Given the description of an element on the screen output the (x, y) to click on. 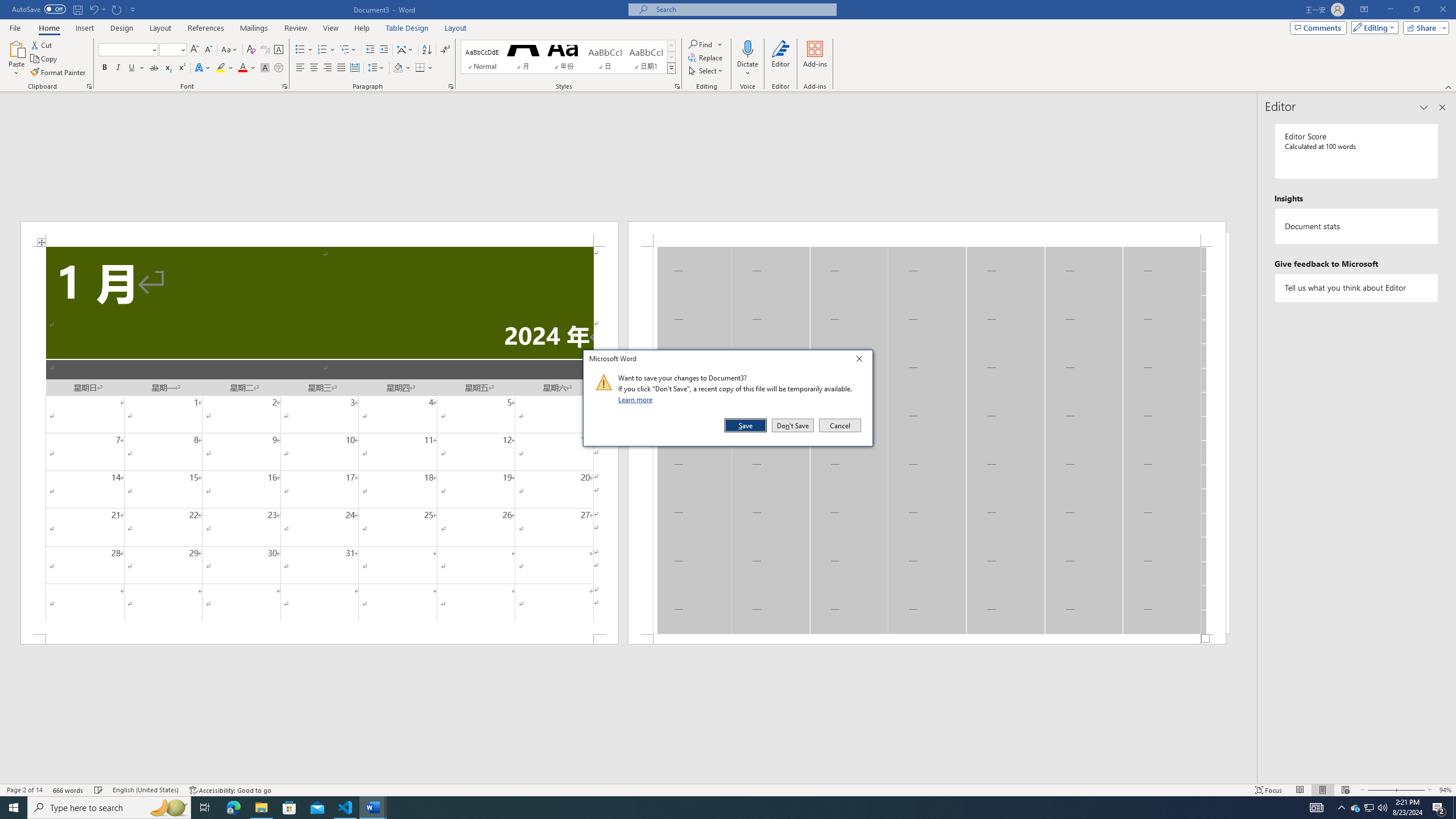
Align Right (327, 67)
Multilevel List (347, 49)
Repeat Doc Close (117, 9)
Class: NetUIScrollBar (628, 778)
Underline (131, 67)
Clear Formatting (250, 49)
Format Painter (58, 72)
Start (13, 807)
Borders (424, 67)
Font (128, 49)
Accessibility Checker Accessibility: Good to go (230, 790)
Sort... (426, 49)
Character Border (278, 49)
